Given the description of an element on the screen output the (x, y) to click on. 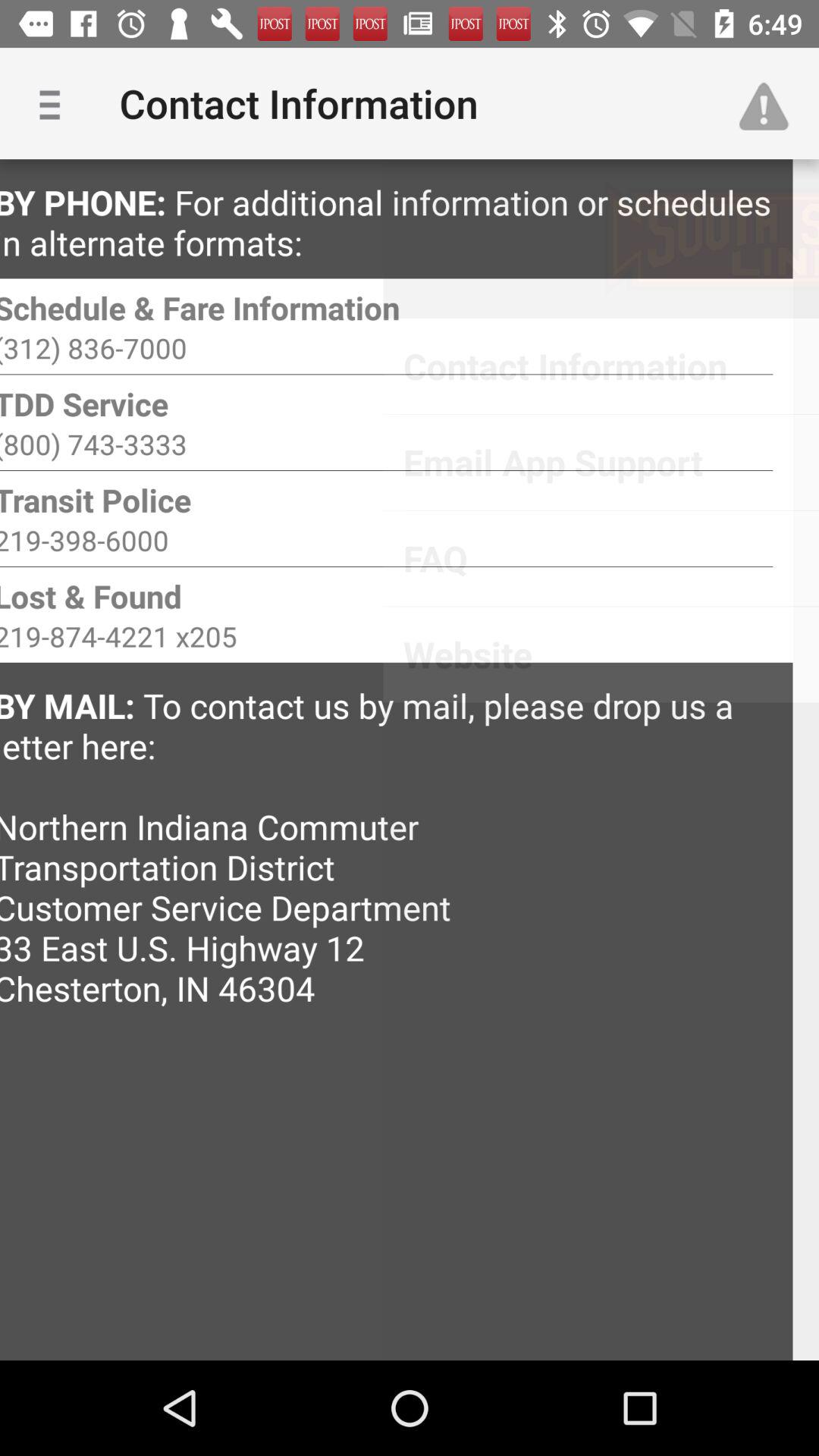
select the item to the left of contact information icon (55, 103)
